Given the description of an element on the screen output the (x, y) to click on. 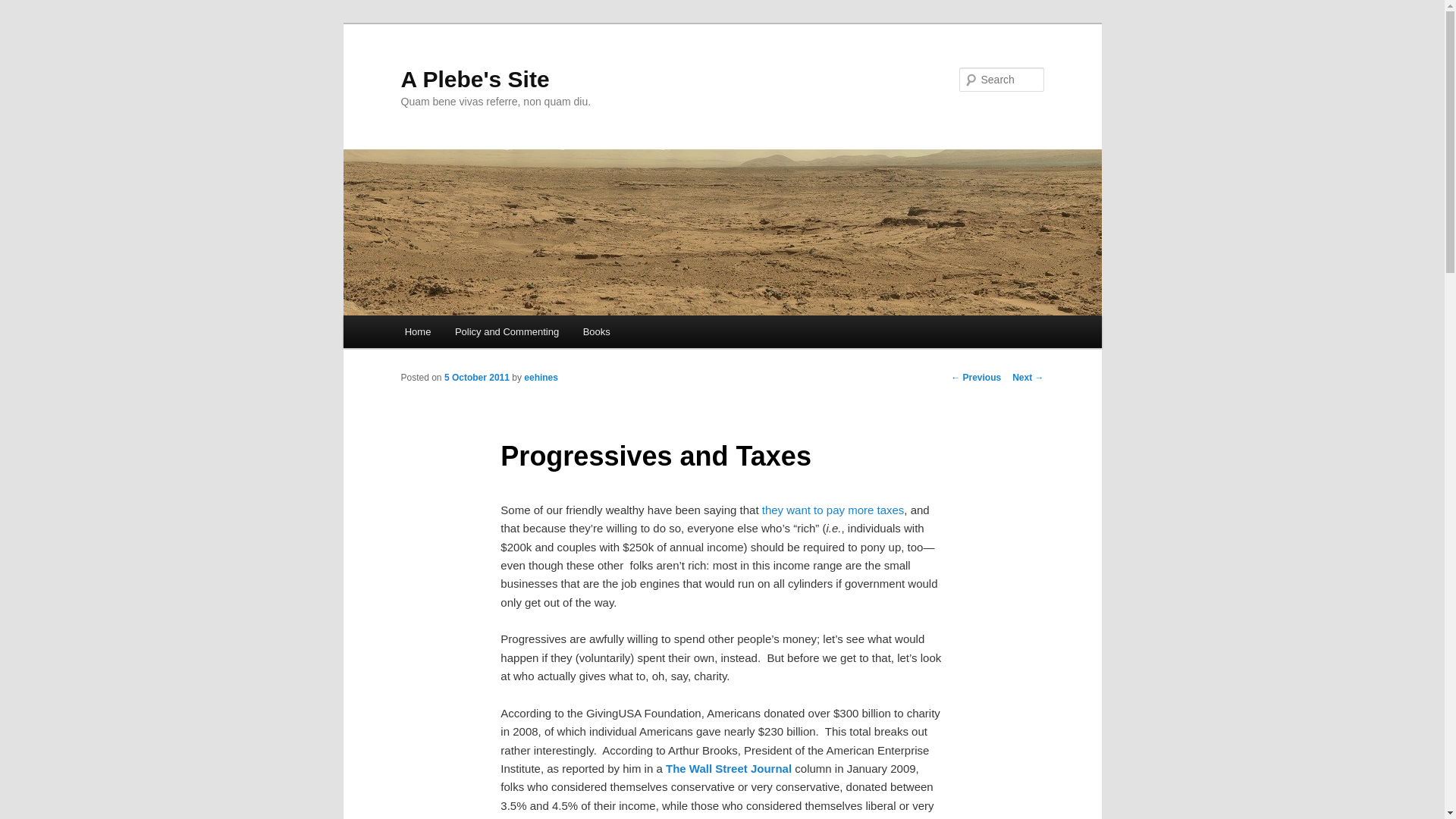
A Plebe's Site (474, 78)
they want to pay more taxes (832, 509)
Search (24, 8)
5 October 2011 (476, 377)
Home (417, 331)
Policy and Commenting (506, 331)
The Wall Street Journal (728, 768)
View all posts by eehines (540, 377)
21:55 (476, 377)
eehines (540, 377)
Books (596, 331)
